Given the description of an element on the screen output the (x, y) to click on. 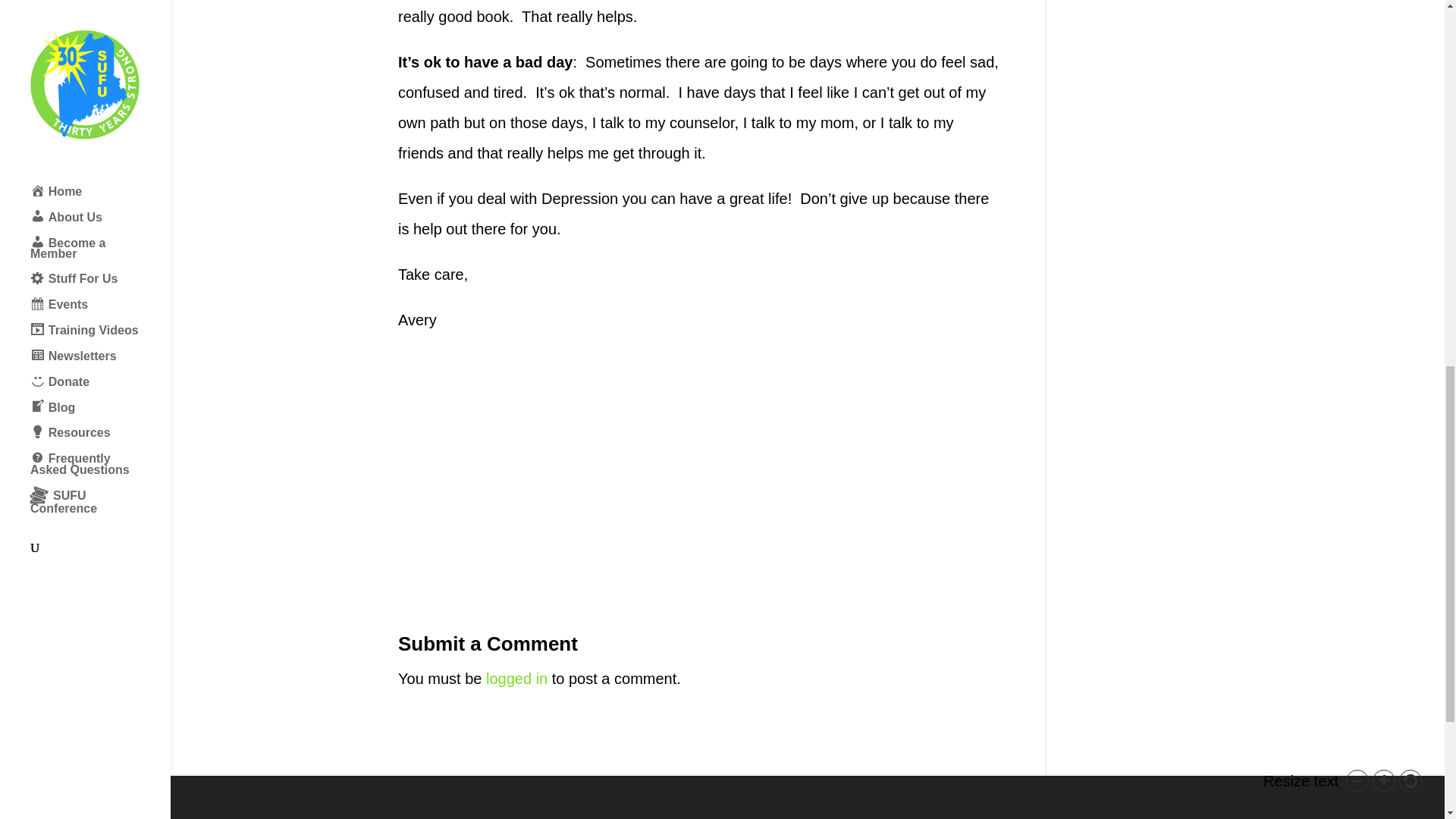
logged in (516, 678)
